Given the description of an element on the screen output the (x, y) to click on. 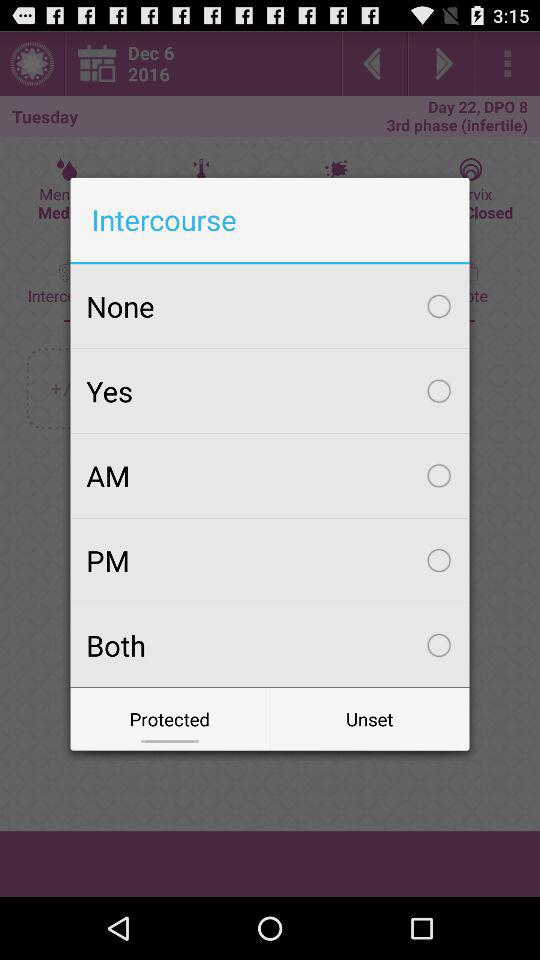
swipe to the unset item (369, 718)
